Given the description of an element on the screen output the (x, y) to click on. 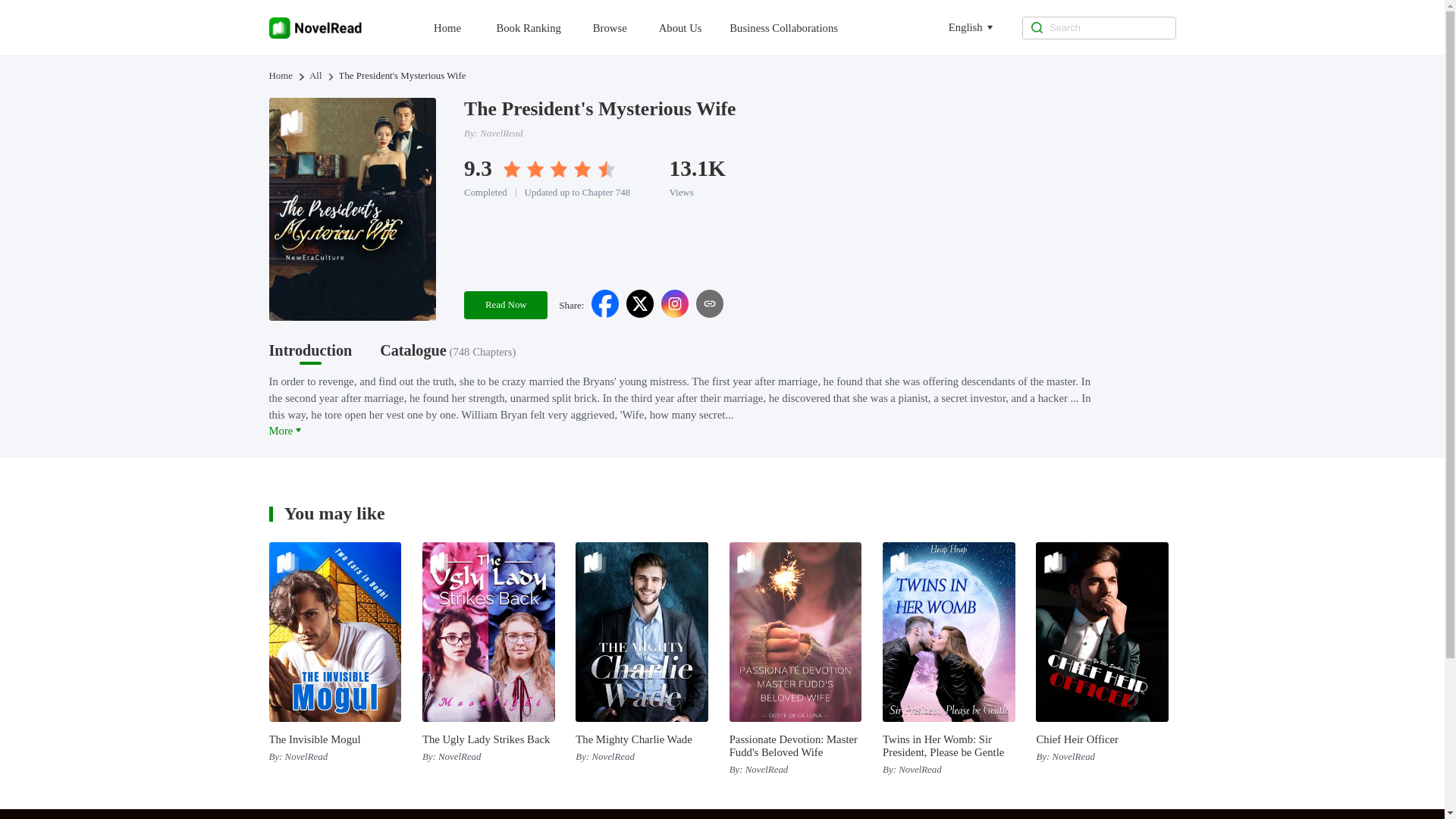
Chief Heir Officer (1102, 739)
By: NovelRead (334, 756)
Read Now (505, 305)
The Mighty Charlie Wade (641, 739)
Home (279, 76)
The Ugly Lady Strikes Back (488, 739)
Browse (624, 27)
About Us (694, 27)
Twins in Her Womb: Sir President, Please be Gentle (948, 746)
By: NovelRead (641, 756)
